Given the description of an element on the screen output the (x, y) to click on. 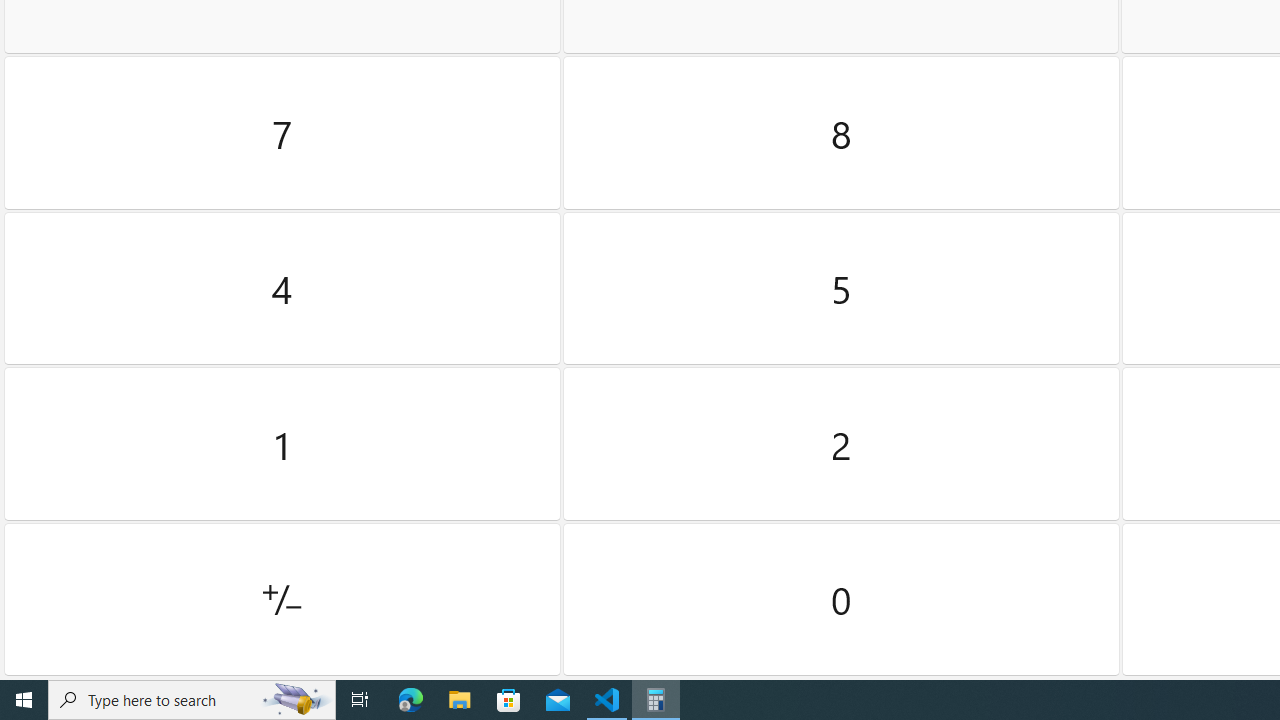
Visual Studio Code - 1 running window (607, 699)
Eight (841, 133)
